Given the description of an element on the screen output the (x, y) to click on. 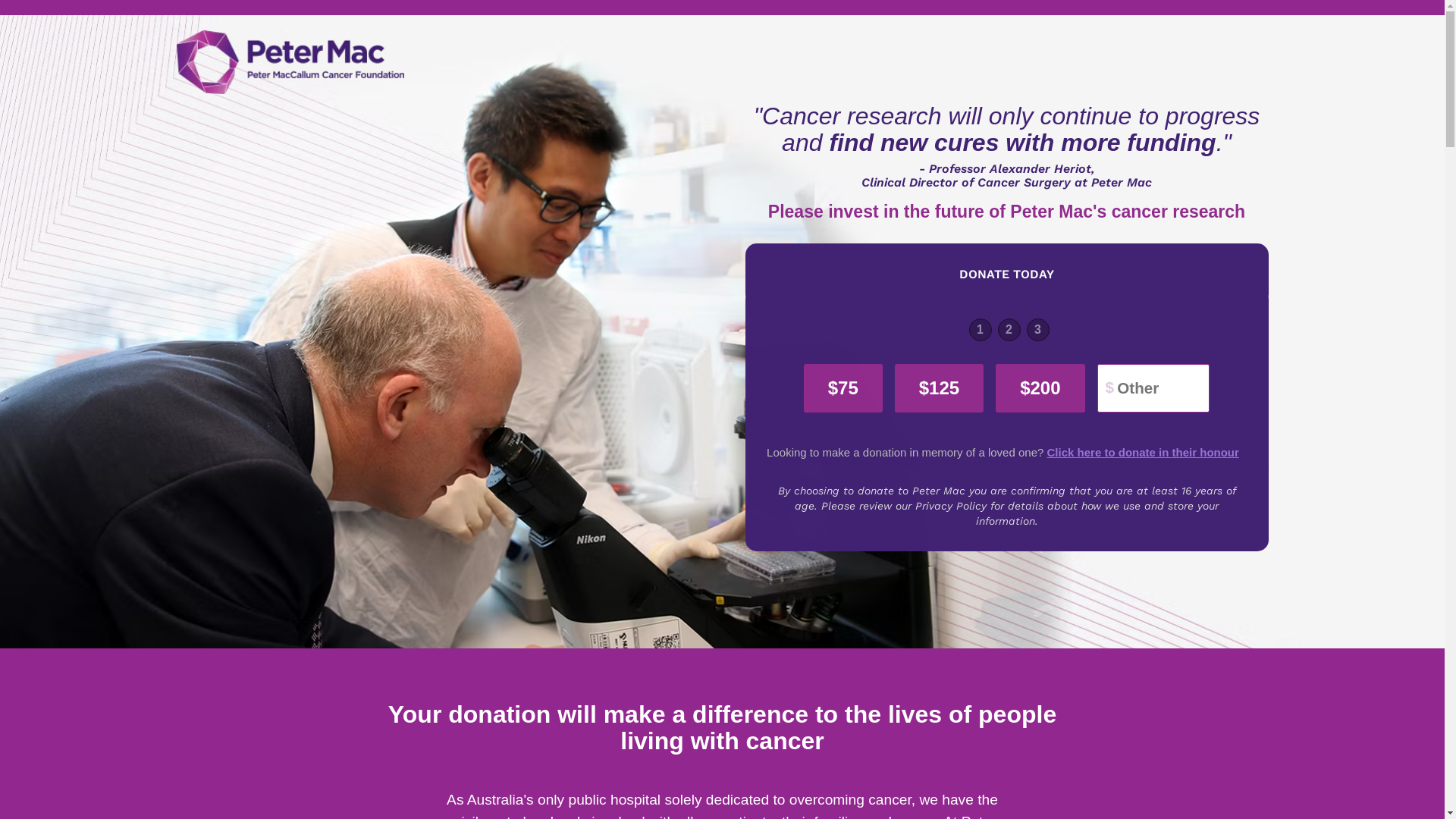
$200 Element type: text (1039, 388)
$125 Element type: text (938, 388)
Click here to donate in their honour Element type: text (1143, 451)
$75 Element type: text (842, 388)
